Given the description of an element on the screen output the (x, y) to click on. 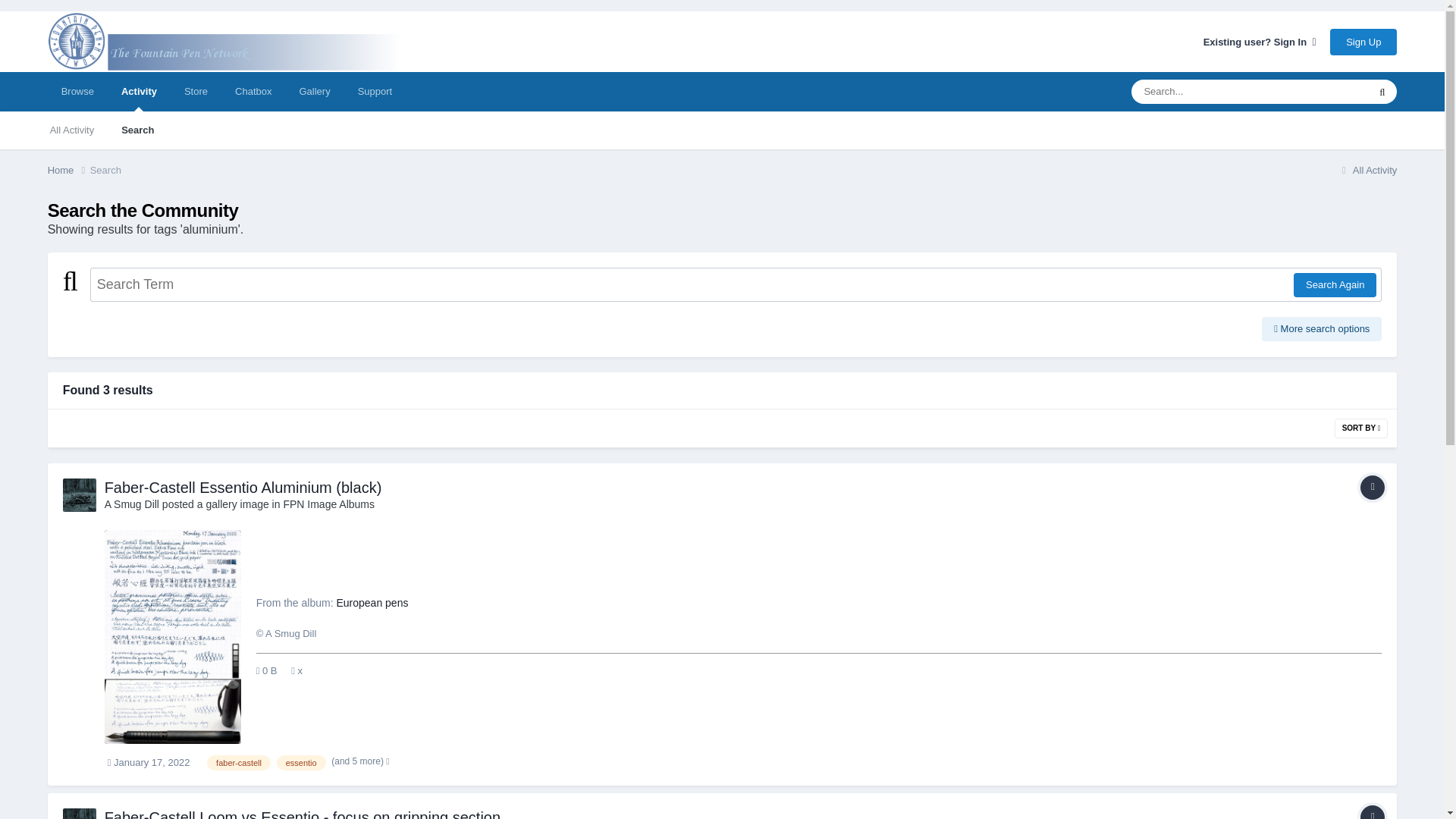
Activity (138, 91)
Store (195, 91)
Sign Up (1363, 41)
Home (69, 170)
Home (69, 170)
All Activity (71, 130)
Search Again (1334, 284)
Gallery Image (1371, 487)
Find other content tagged with 'essentio' (301, 762)
Gallery Image (1371, 812)
All Activity (1366, 170)
Gallery (314, 91)
Search (105, 170)
Find other content tagged with 'faber-castell' (238, 762)
Search (137, 130)
